Given the description of an element on the screen output the (x, y) to click on. 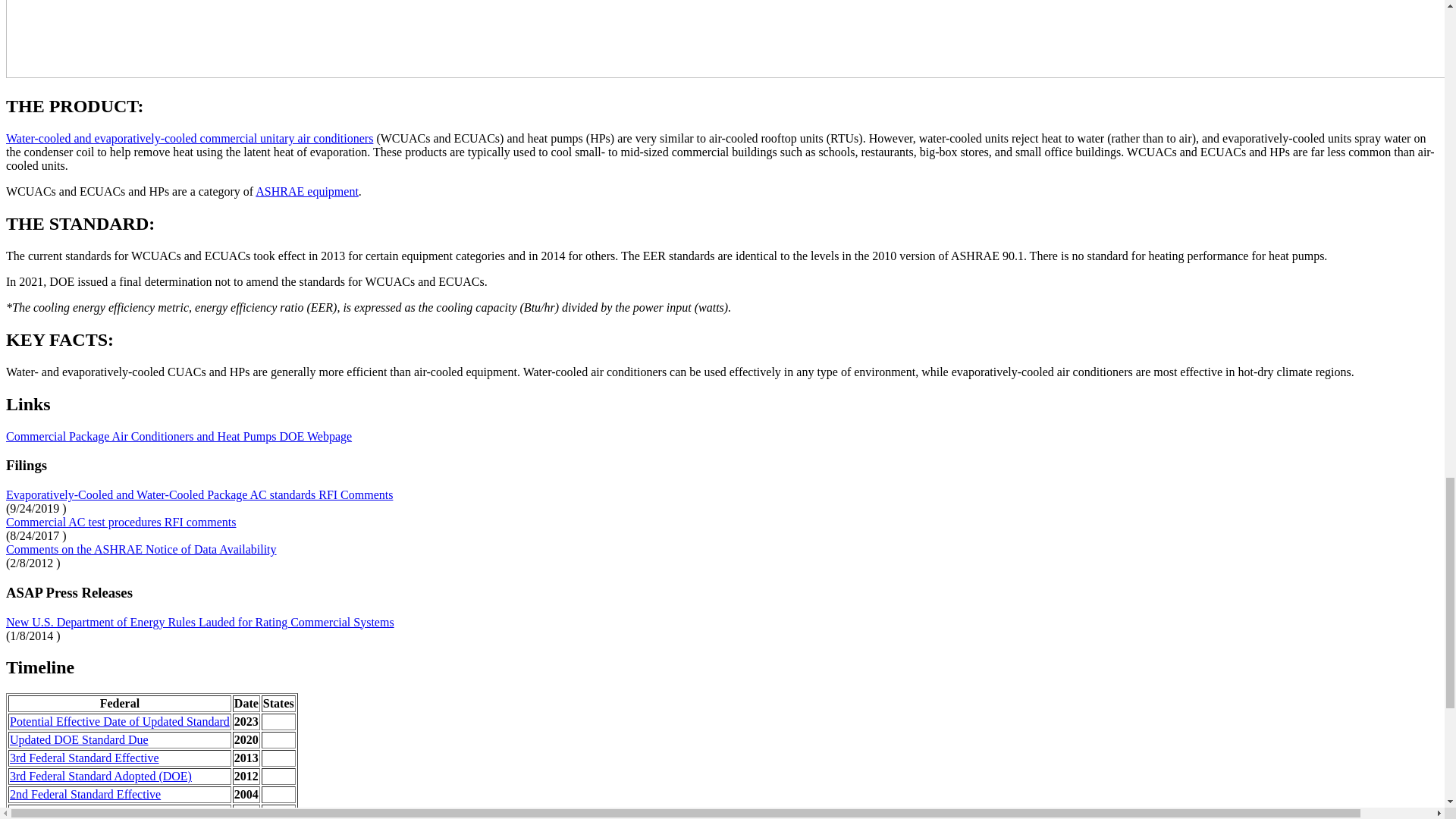
ASHRAE equipment (307, 191)
